Given the description of an element on the screen output the (x, y) to click on. 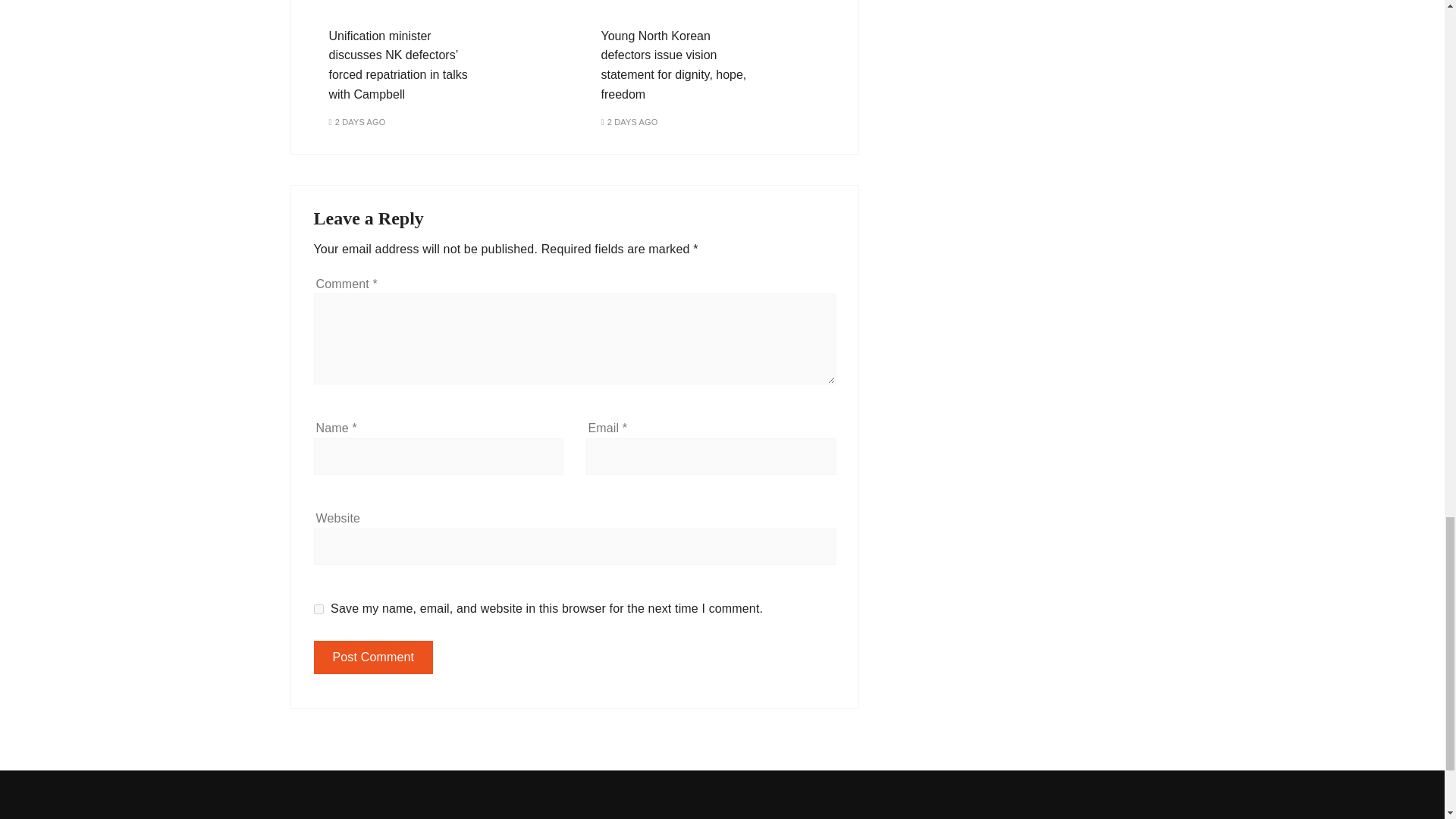
yes (318, 609)
Post Comment (373, 657)
Post Comment (373, 657)
